Given the description of an element on the screen output the (x, y) to click on. 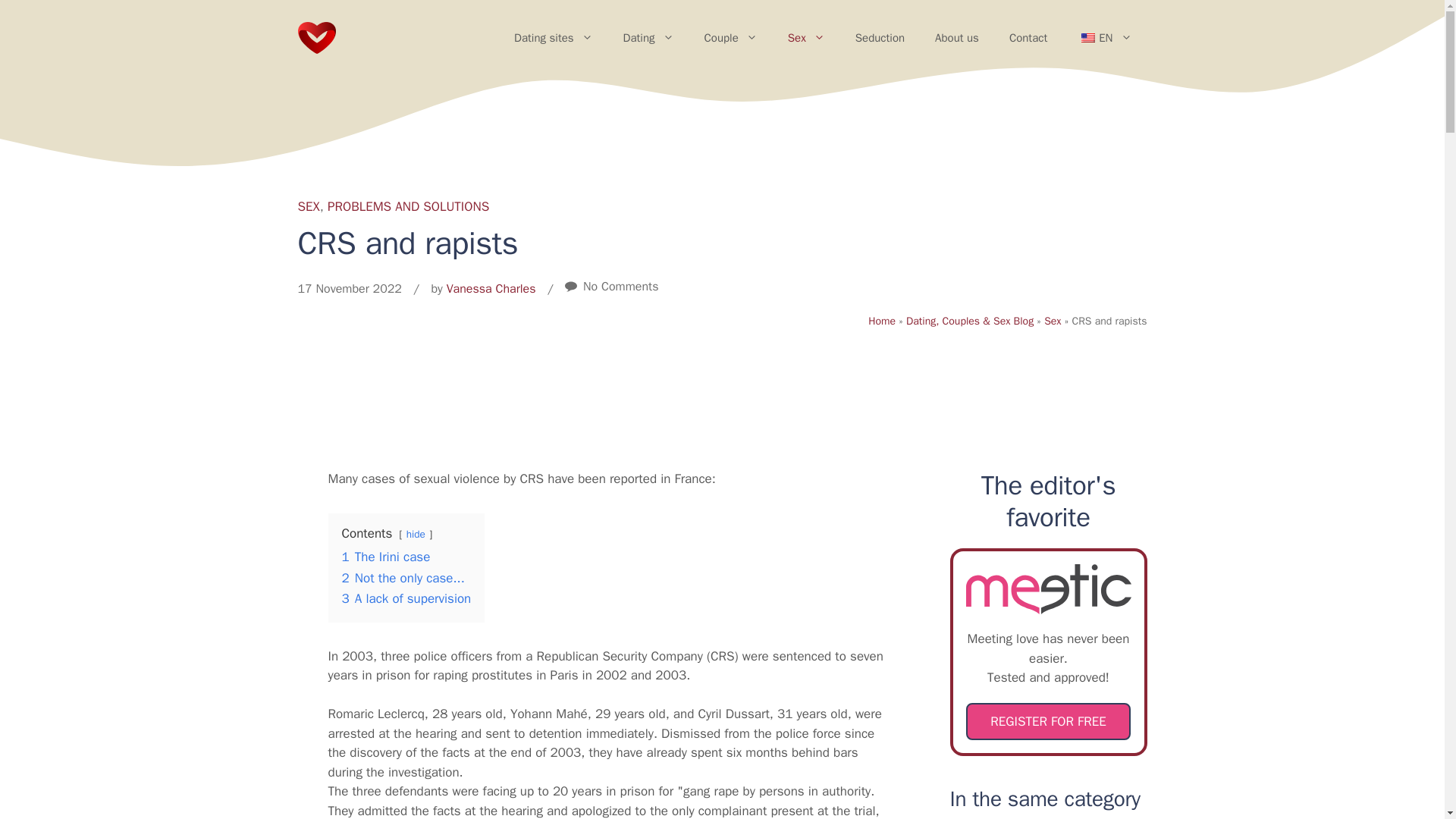
About us (957, 37)
Couple (730, 37)
Give Me Date (315, 38)
Dating sites (553, 37)
Contact (1028, 37)
Sex (806, 37)
Give Me Date (315, 36)
Seduction (880, 37)
English (1087, 37)
EN (1104, 37)
Dating (648, 37)
